Given the description of an element on the screen output the (x, y) to click on. 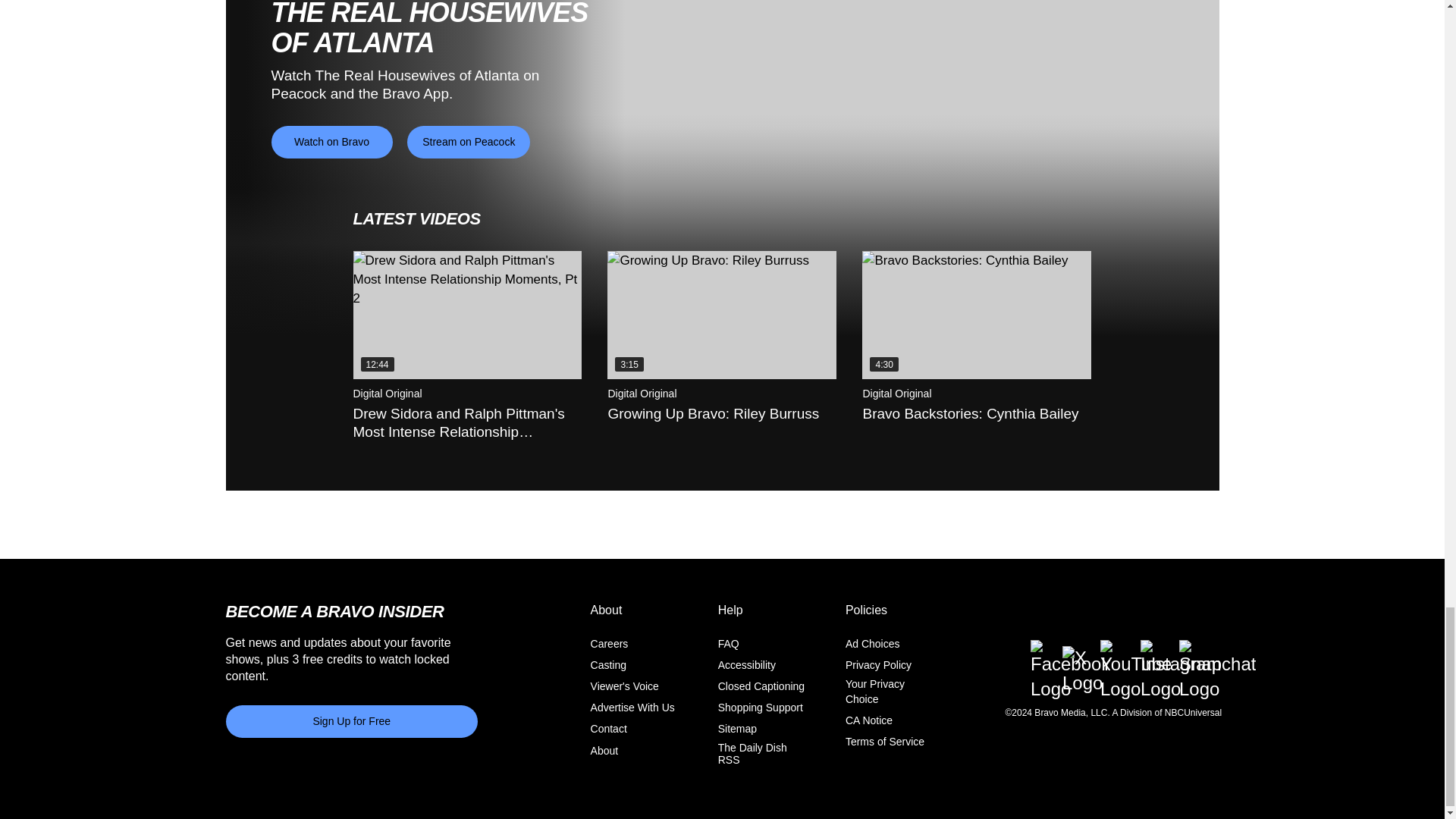
Advertise With Us (633, 707)
Bravo Backstories: Cynthia Bailey (975, 315)
Growing Up Bravo: Riley Burruss (721, 315)
